Given the description of an element on the screen output the (x, y) to click on. 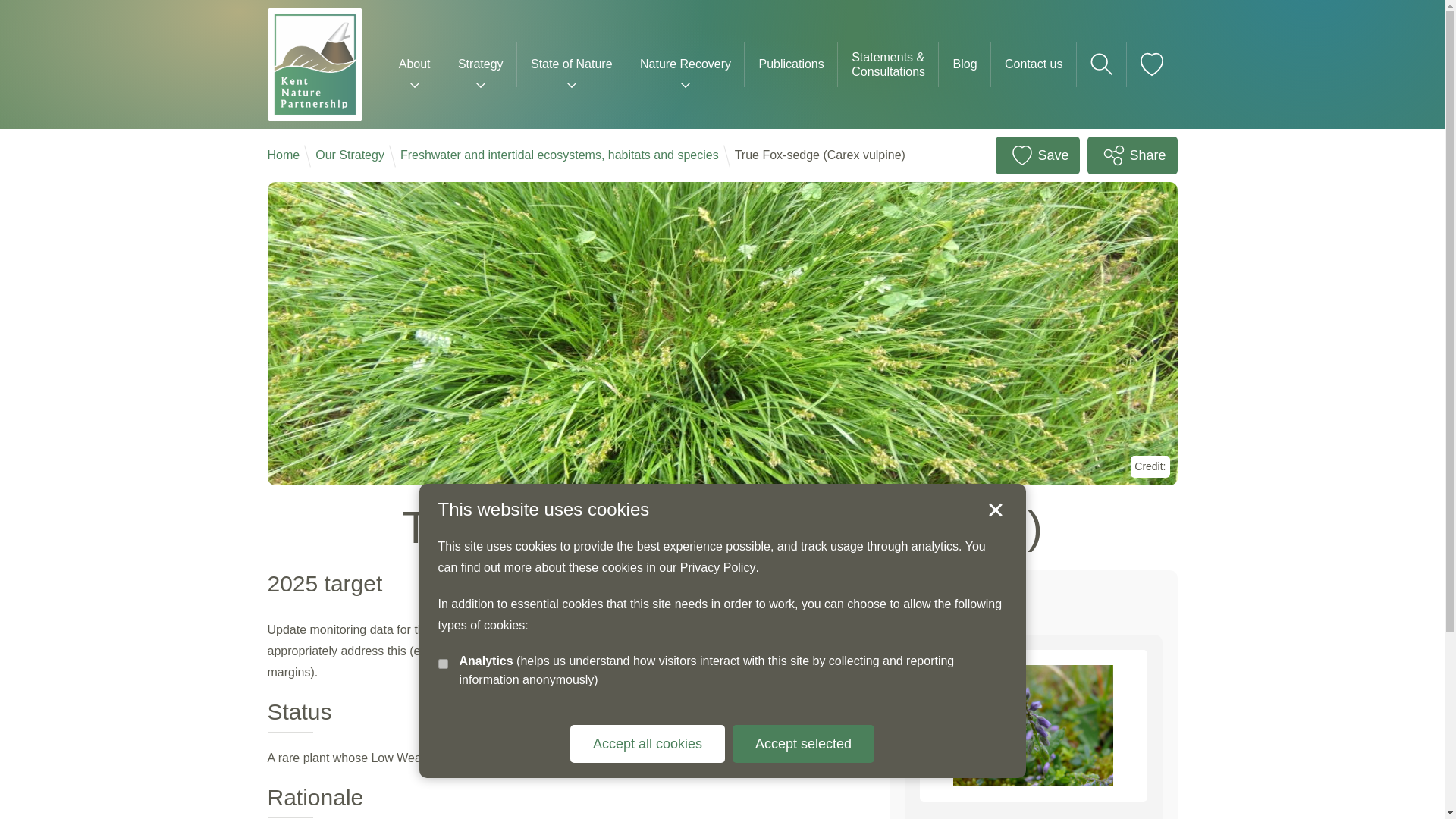
stats (443, 664)
Our Strategy (349, 155)
Publications (791, 64)
Strategy (480, 64)
Skip to content (37, 11)
Home (282, 155)
Nature Recovery (685, 64)
State of Nature (571, 64)
Home (282, 155)
Contact us (1034, 64)
Freshwater and intertidal ecosystems, habitats and species (559, 155)
